Given the description of an element on the screen output the (x, y) to click on. 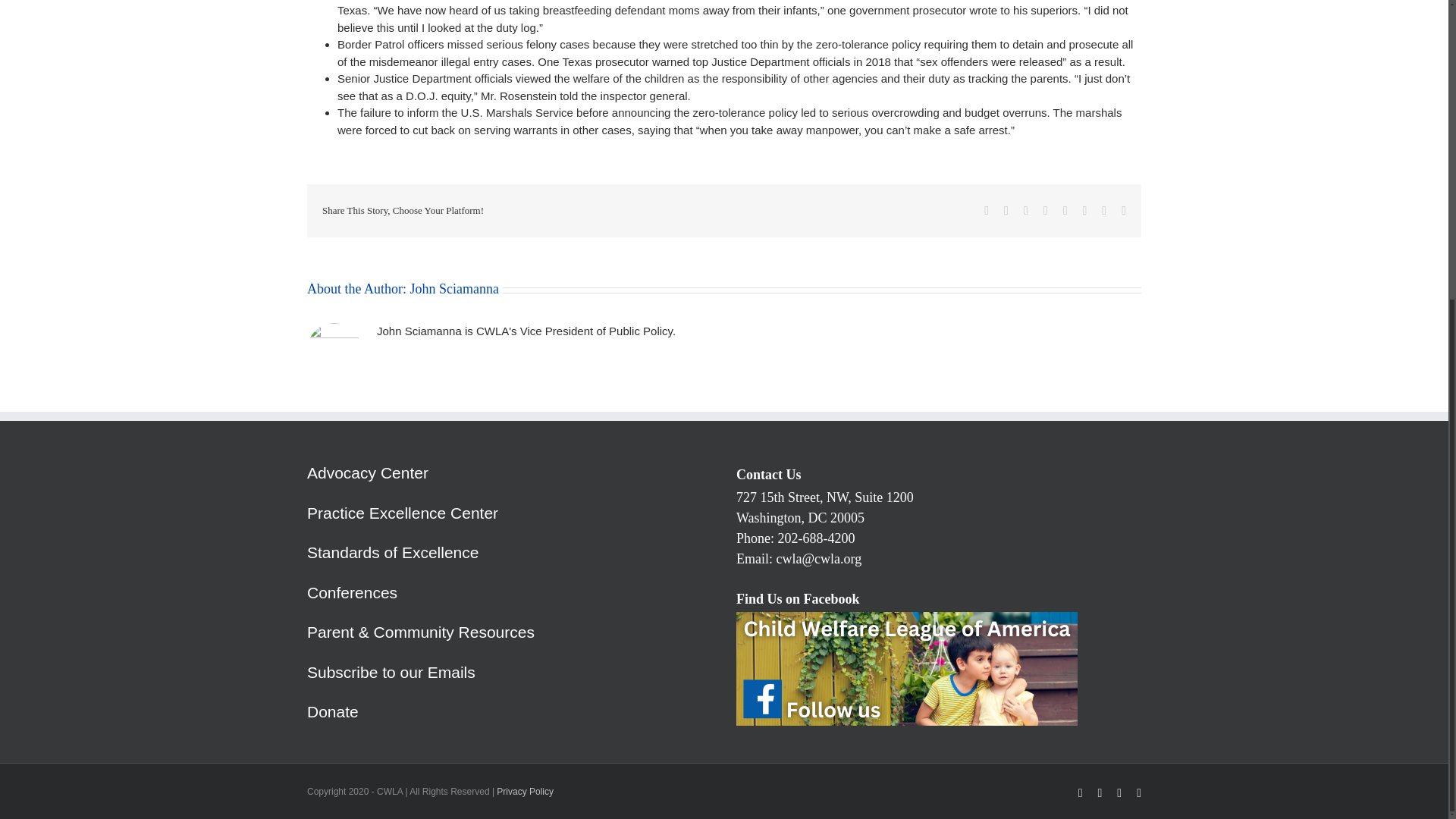
Posts by John Sciamanna (453, 288)
